Given the description of an element on the screen output the (x, y) to click on. 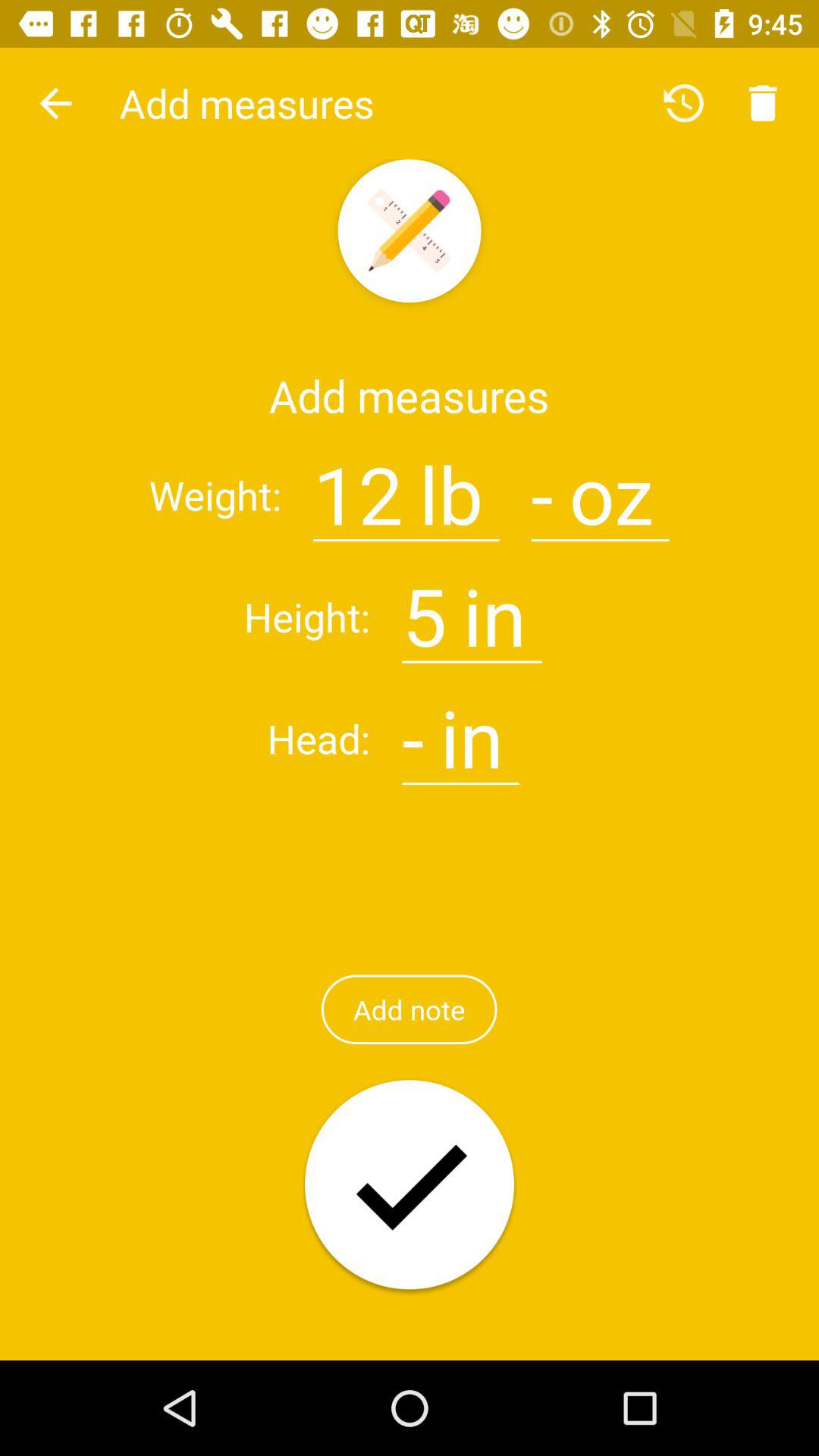
click item above in (542, 485)
